Given the description of an element on the screen output the (x, y) to click on. 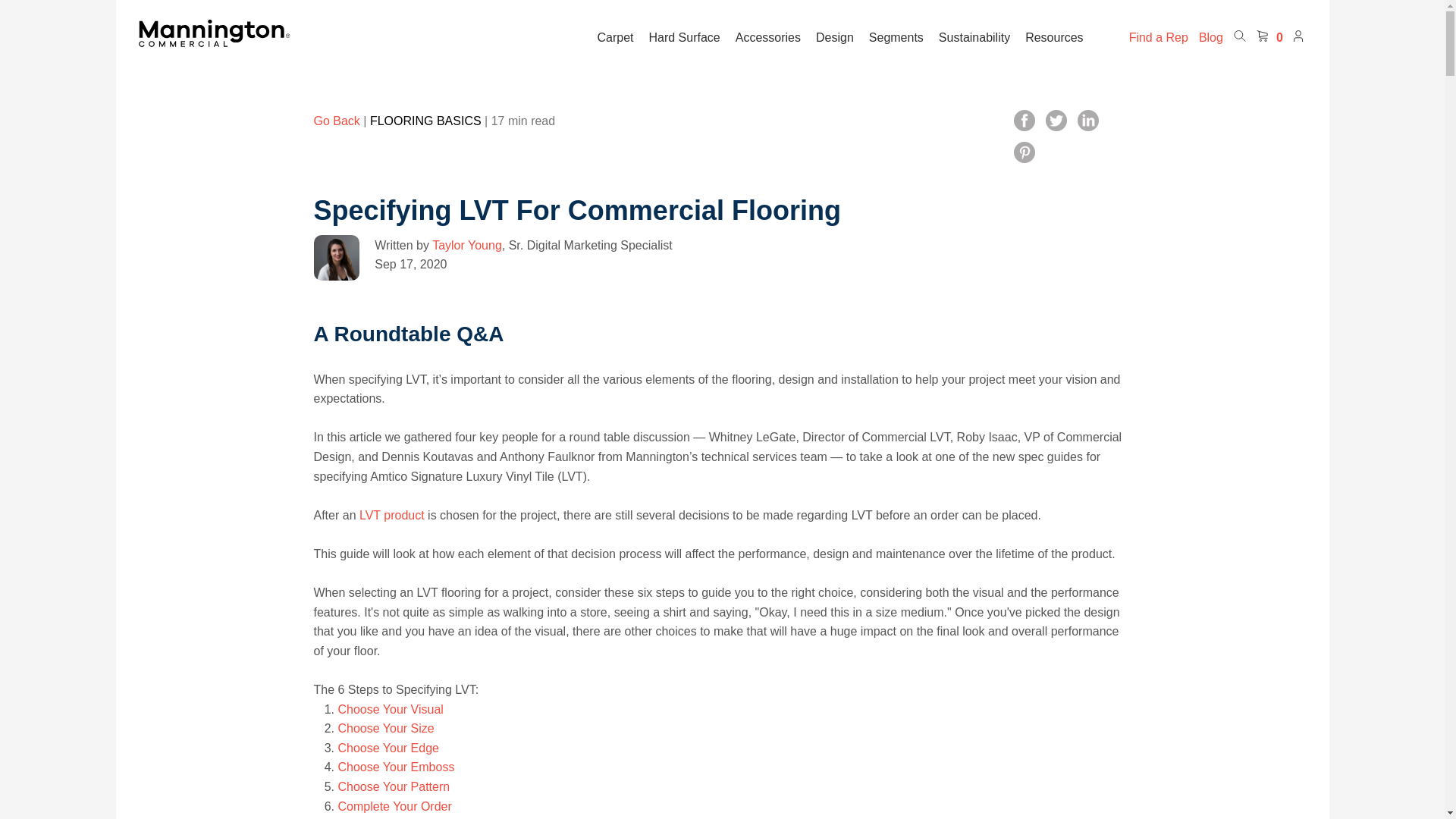
Accessories (767, 37)
Design (834, 37)
Hard Surface (683, 37)
Carpet (614, 37)
Carpet (614, 37)
Accessories (767, 37)
Hard Surface (683, 37)
